Given the description of an element on the screen output the (x, y) to click on. 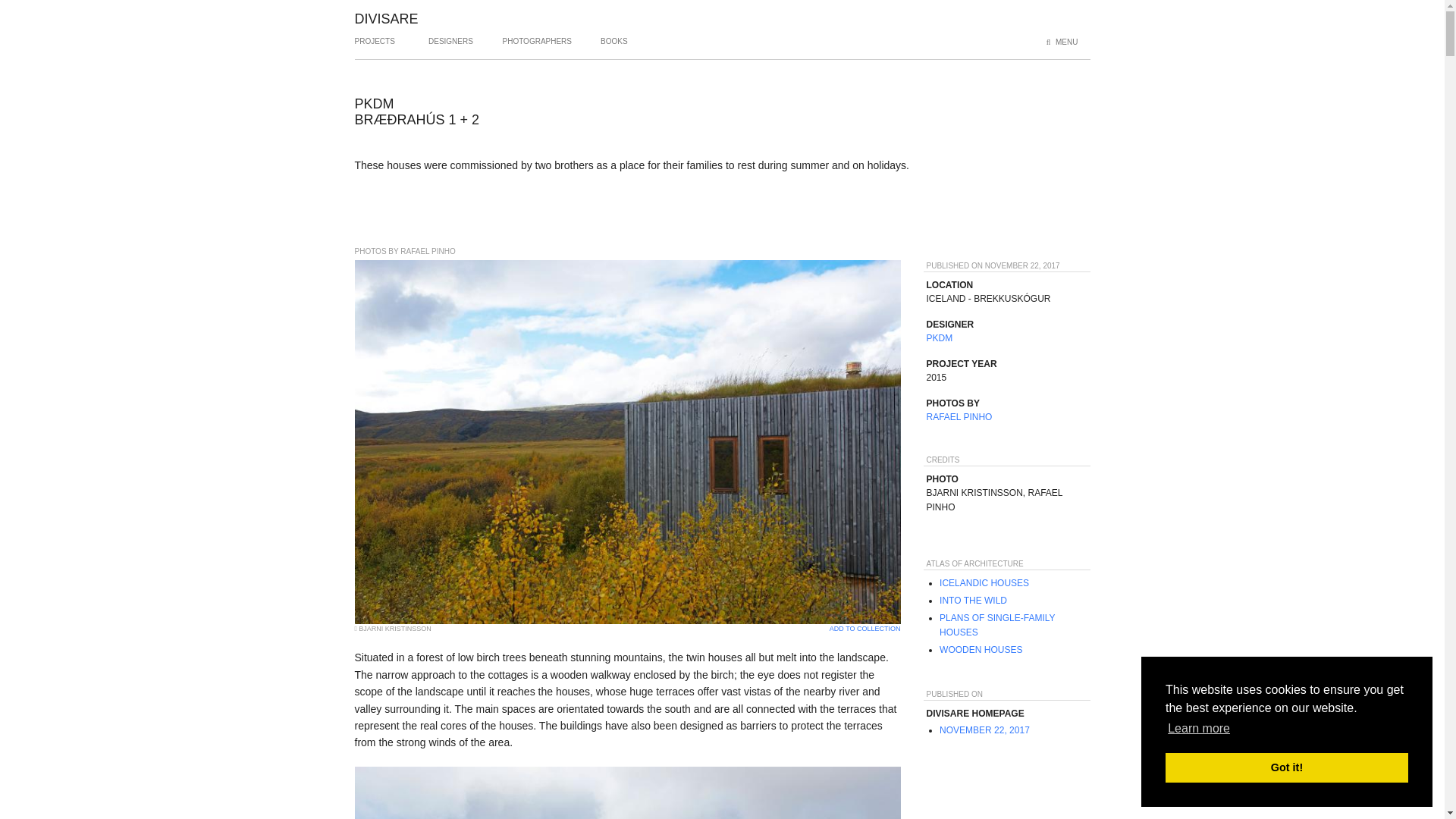
DIVISARE (387, 18)
Learn more (1198, 728)
PROJECTS (374, 46)
Got it! (1286, 767)
